Given the description of an element on the screen output the (x, y) to click on. 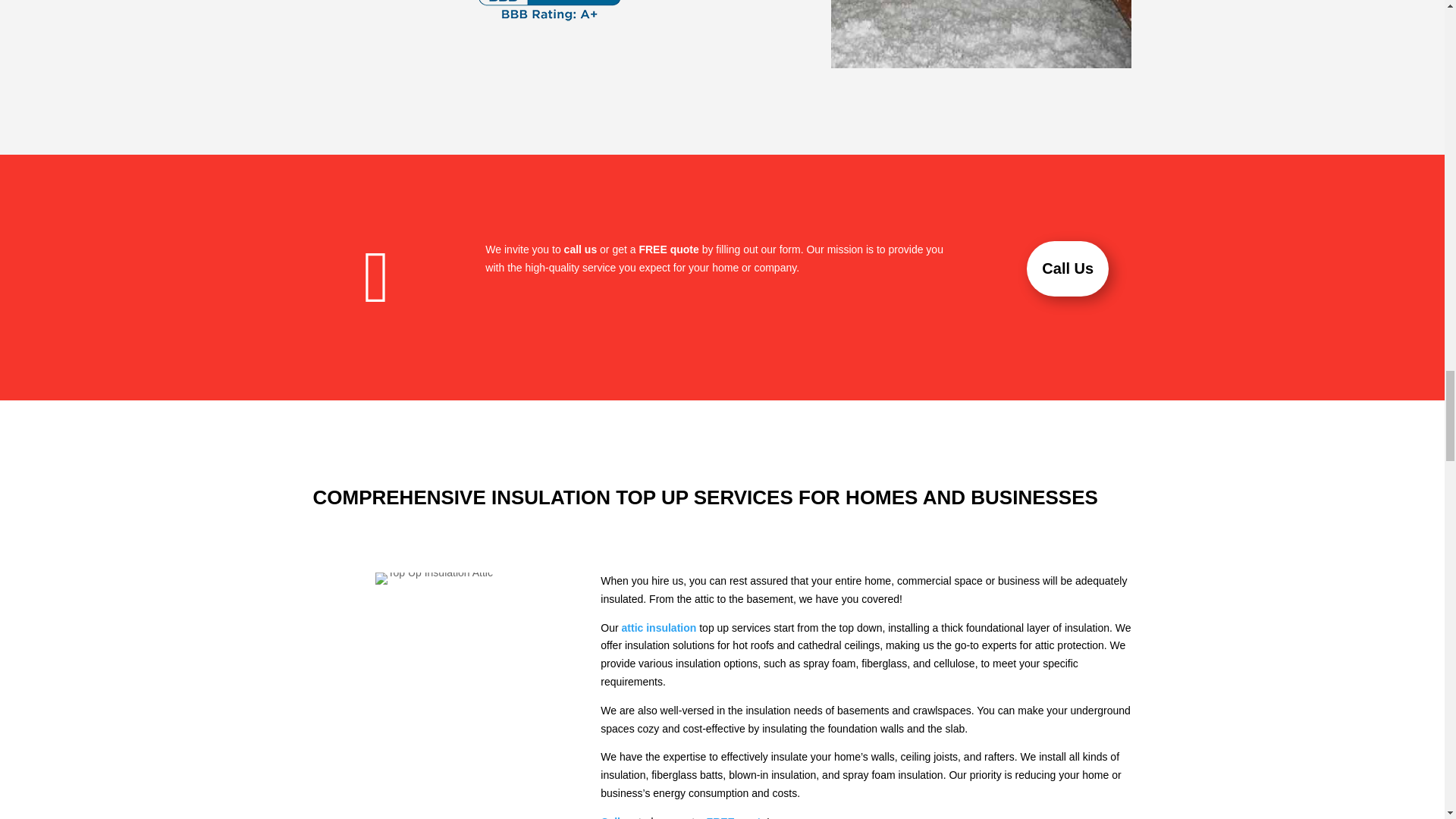
top-up-insulation-attic (434, 578)
attic-insulation-top-up (981, 33)
bbb-accredited-business (550, 11)
